Given the description of an element on the screen output the (x, y) to click on. 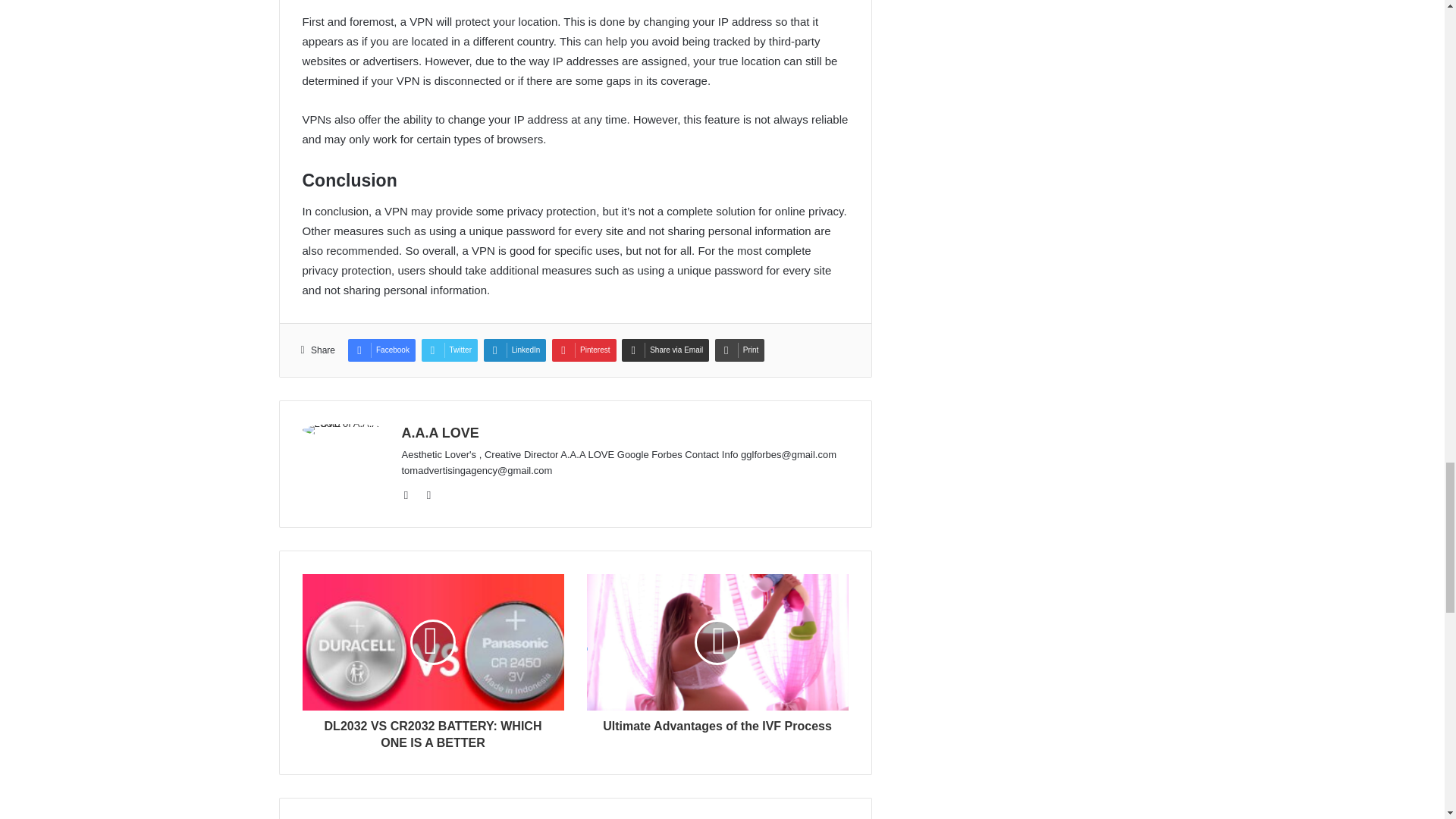
Twitter (449, 350)
Twitter (449, 350)
Print (739, 350)
Share via Email (665, 350)
Facebook (380, 350)
LinkedIn (515, 350)
Pinterest (583, 350)
Pinterest (583, 350)
Facebook (380, 350)
LinkedIn (515, 350)
